Given the description of an element on the screen output the (x, y) to click on. 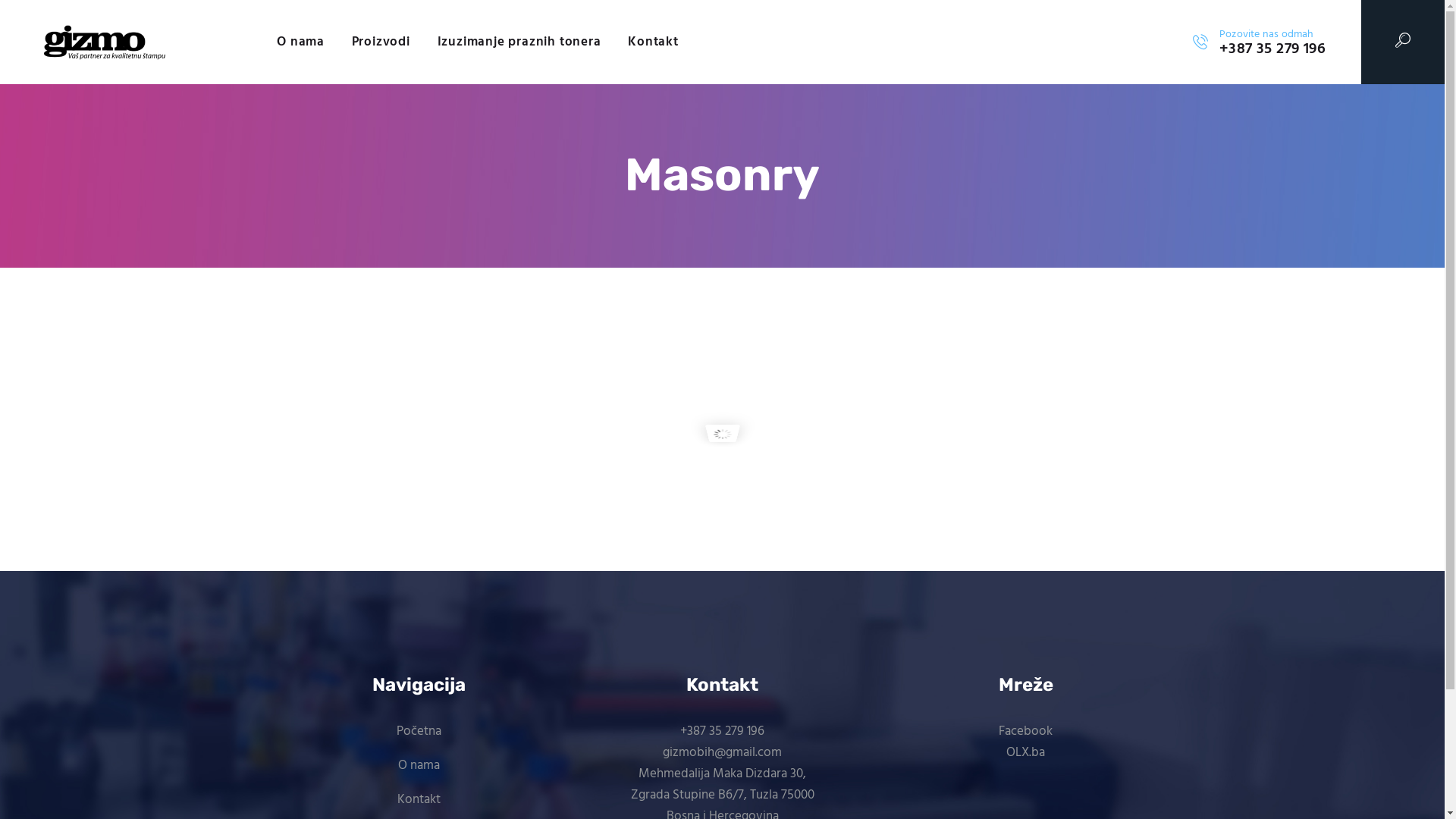
Proizvodi Element type: text (380, 42)
O nama Element type: text (300, 42)
O nama Element type: text (418, 765)
Facebook Element type: text (1025, 731)
OLX.ba Element type: text (1025, 752)
Kontakt Element type: text (418, 799)
Izuzimanje praznih tonera Element type: text (519, 42)
Kontakt Element type: text (652, 42)
Pozovite nas odmah
+387 35 279 196 Element type: text (1258, 42)
